Given the description of an element on the screen output the (x, y) to click on. 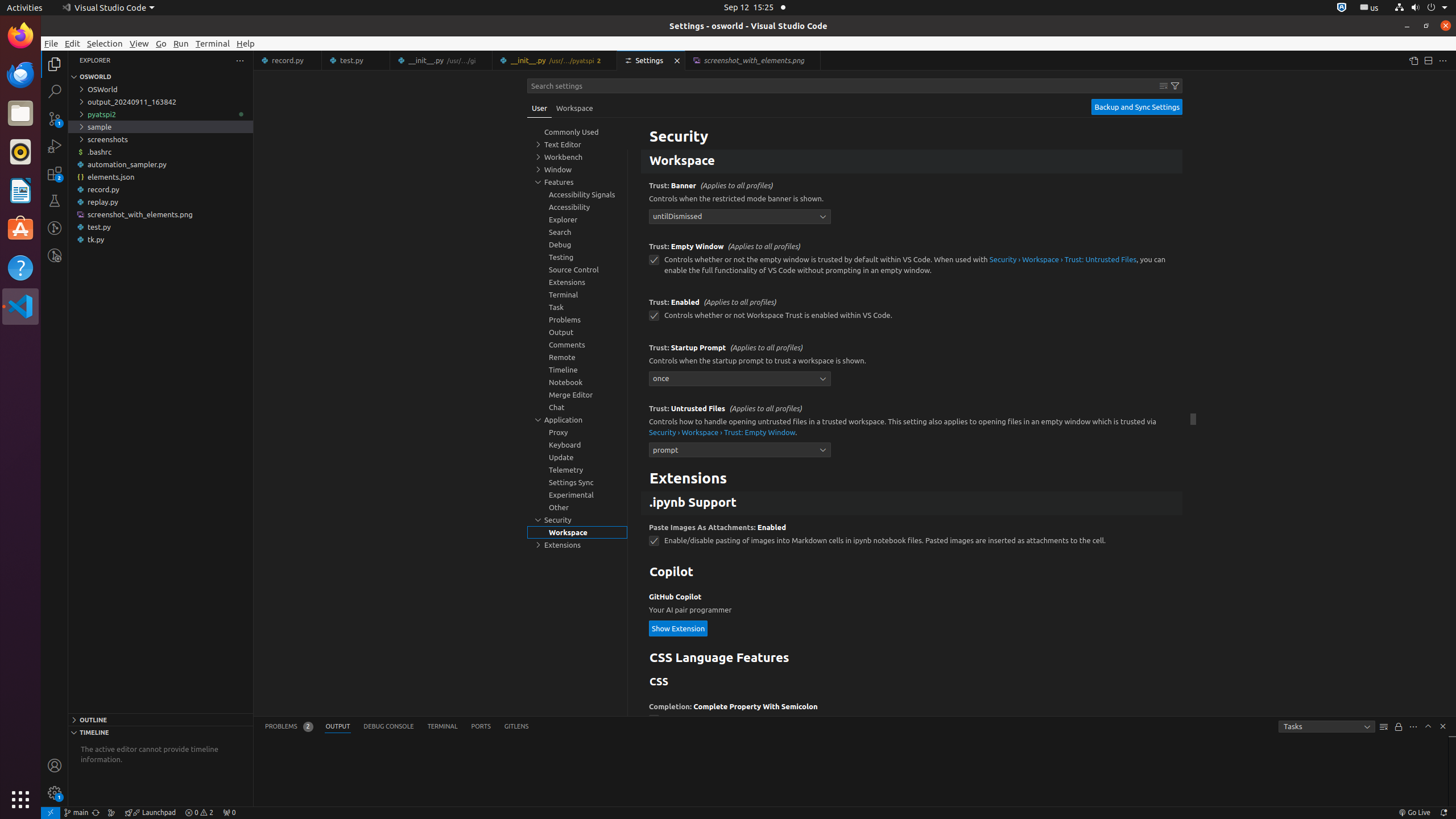
Open Settings (JSON) Element type: push-button (1413, 60)
Task, group Element type: tree-item (577, 306)
OSWorld (Git) - main, Checkout Branch/Tag... Element type: push-button (75, 812)
Tasks Element type: menu-item (1326, 726)
